Given the description of an element on the screen output the (x, y) to click on. 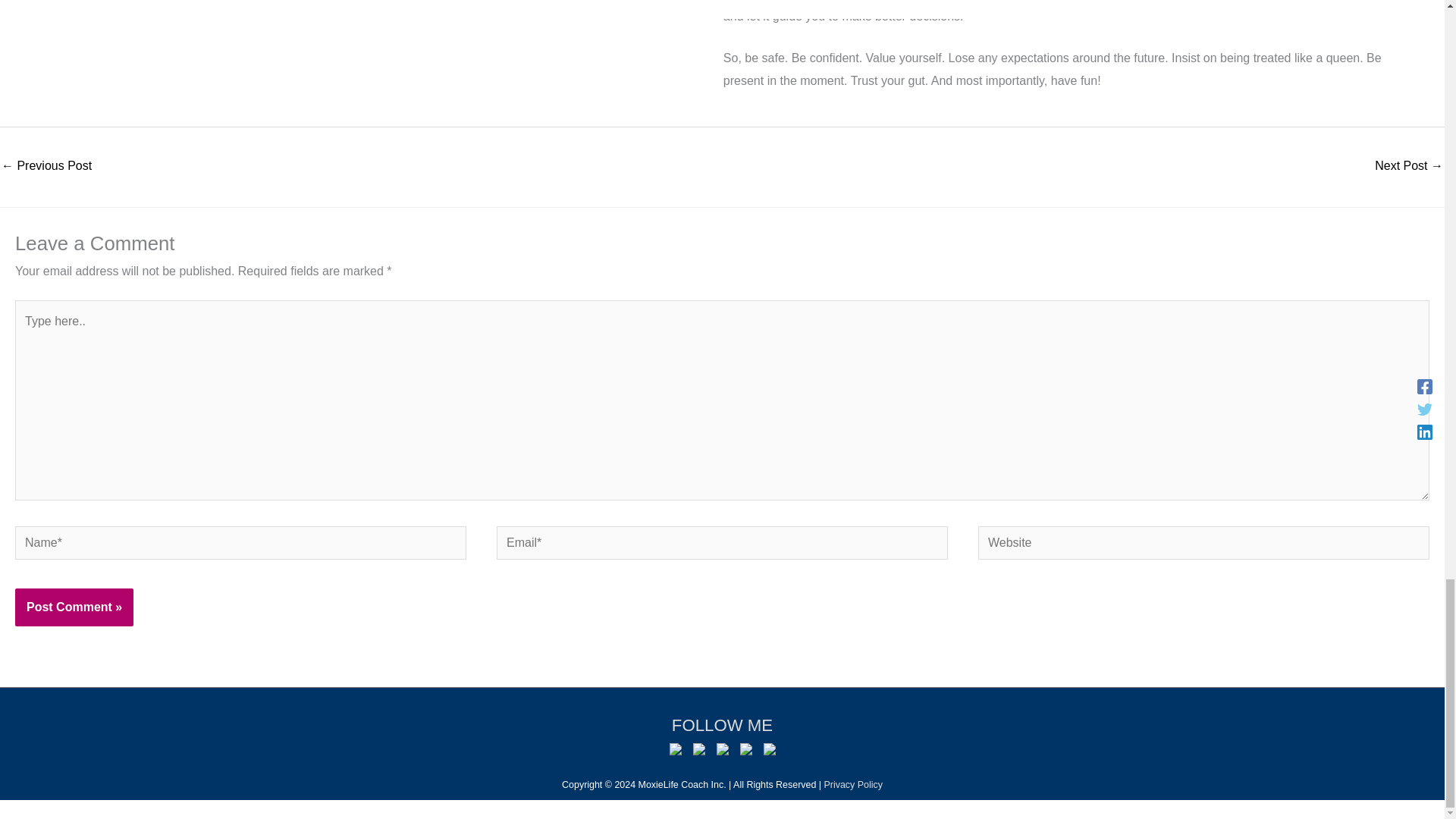
Follow Me on Facebook (674, 748)
Follow Me on Twitter (698, 748)
Find us on YouTube (745, 748)
Connect With Me on LinkedIn (721, 751)
Follow Me on Facebook (674, 751)
Connect With Me on LinkedIn (722, 748)
THE BIG FAIL (46, 166)
Follow on Instagram (768, 748)
Follow on Instagram (768, 751)
Find us on YouTube (745, 751)
